Given the description of an element on the screen output the (x, y) to click on. 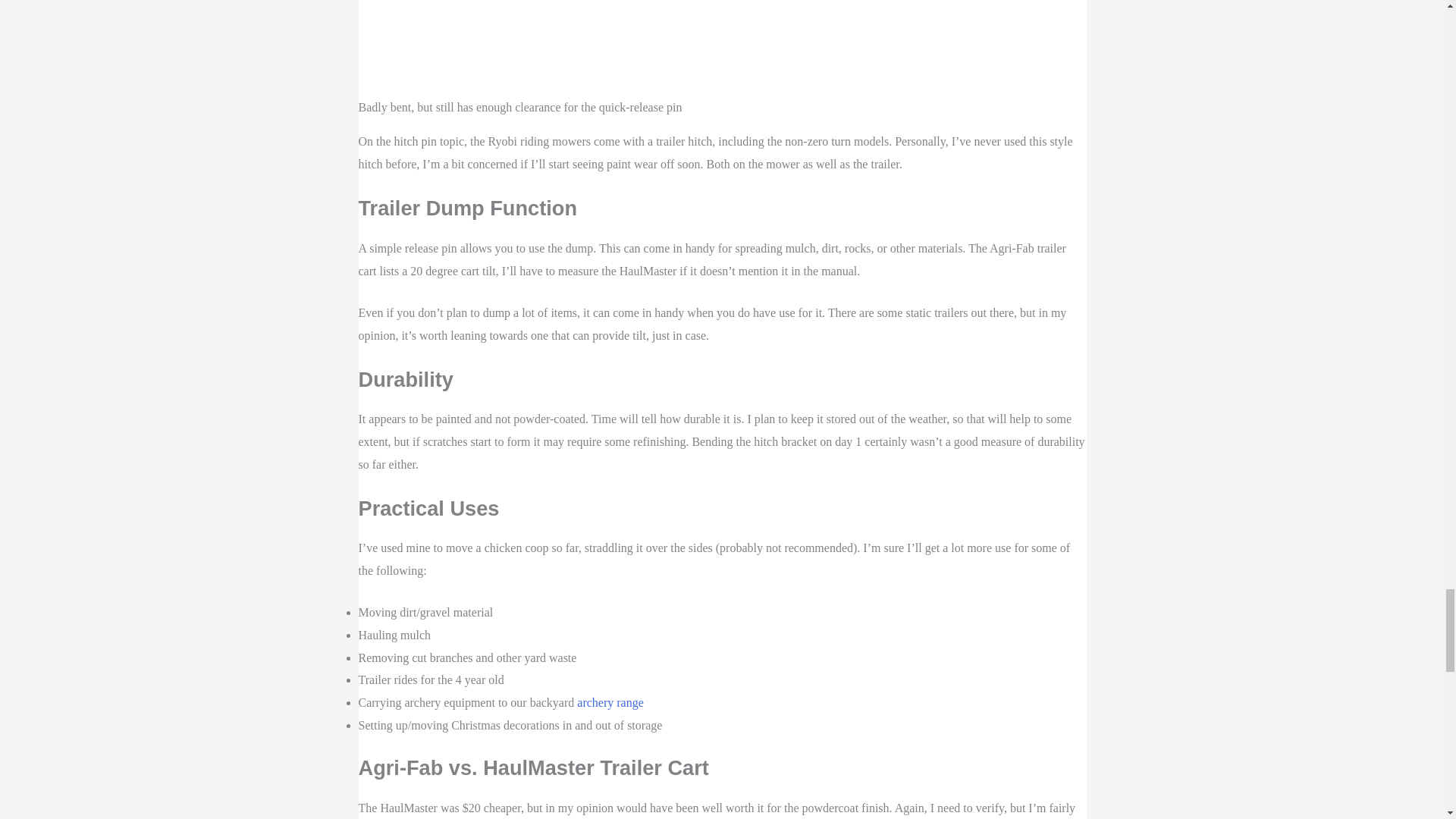
archery range (609, 702)
